Given the description of an element on the screen output the (x, y) to click on. 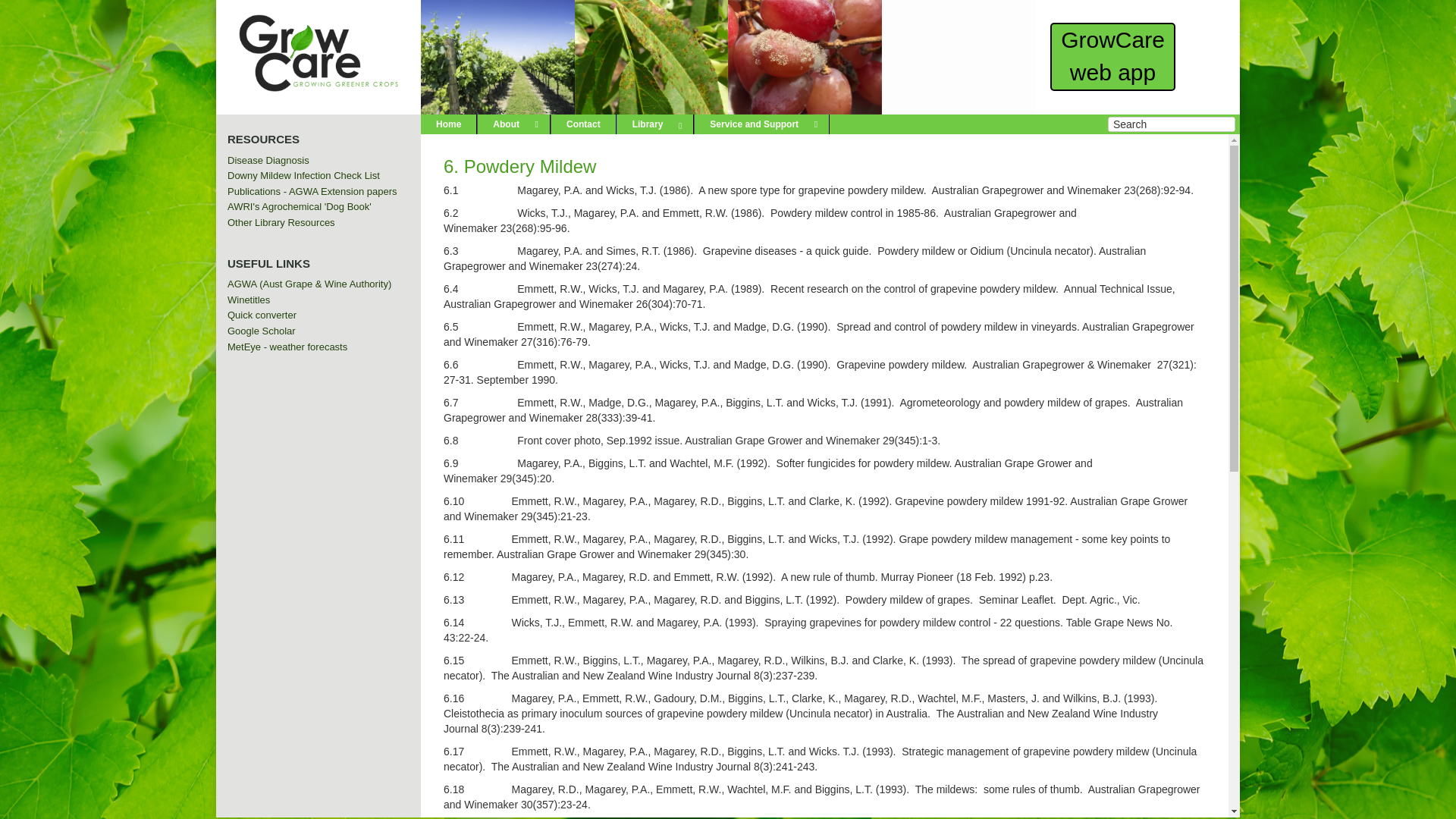
MetEye - weather forecasts Element type: text (287, 346)
Publications - AGWA Extension papers Element type: text (312, 191)
Quick converter Element type: text (261, 314)
Disease Diagnosis Element type: text (268, 160)
AWRI's Agrochemical 'Dog Book' Element type: text (299, 206)
AGWA (Aust Grape & Wine Authority) Element type: text (309, 283)
Other Library Resources Element type: text (281, 222)
Google Scholar Element type: text (261, 330)
About Element type: text (513, 124)
Service and Support Element type: text (761, 124)
Home Element type: text (448, 124)
GrowCare web app Element type: text (1112, 55)
Downy Mildew Infection Check List Element type: text (303, 175)
Contact Element type: text (583, 124)
Winetitles Element type: text (248, 299)
Library Element type: text (655, 124)
